Given the description of an element on the screen output the (x, y) to click on. 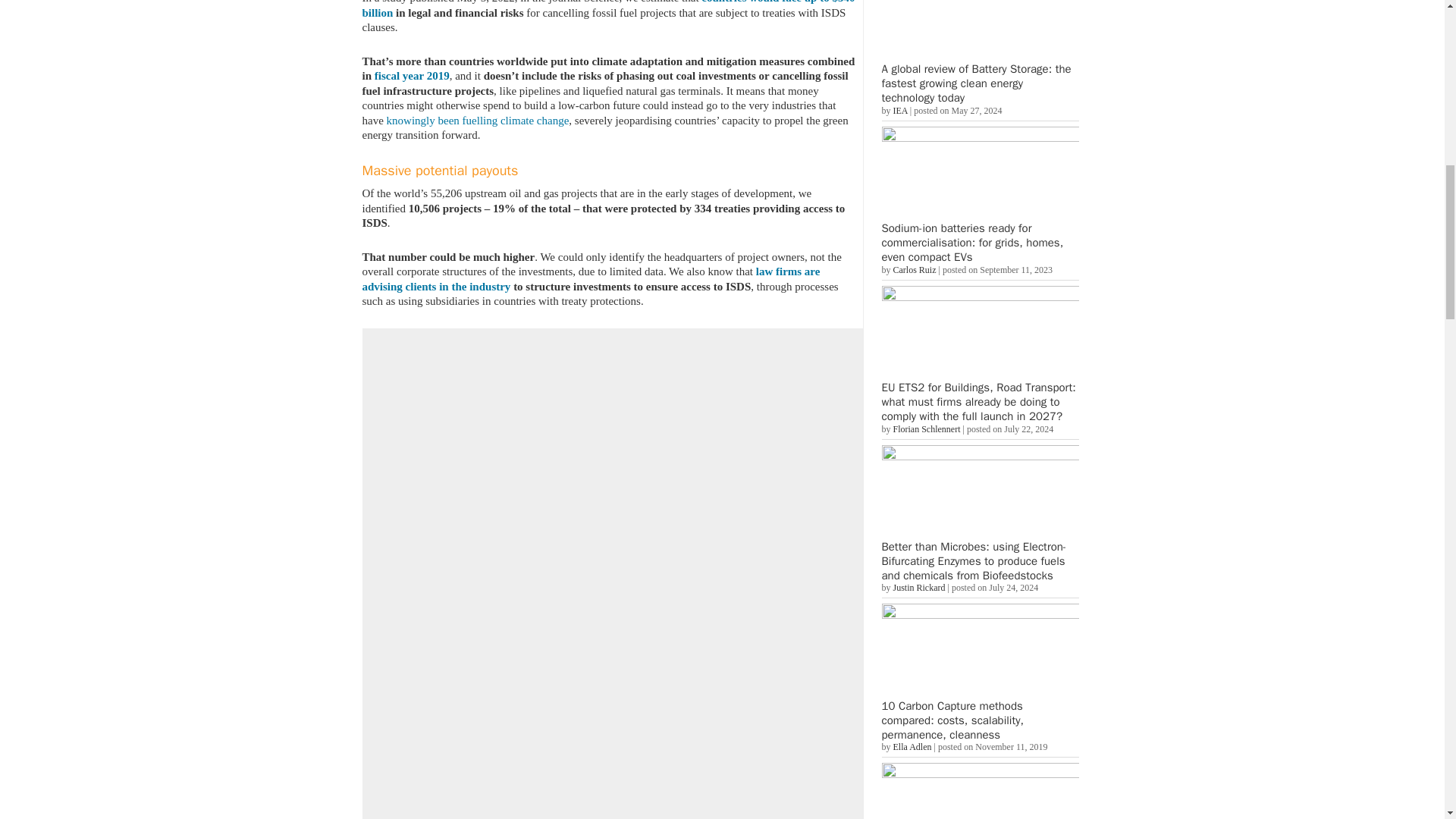
knowingly been fuelling climate change (478, 119)
law firms are advising clients in the industry (591, 278)
fiscal year 2019 (411, 75)
